Given the description of an element on the screen output the (x, y) to click on. 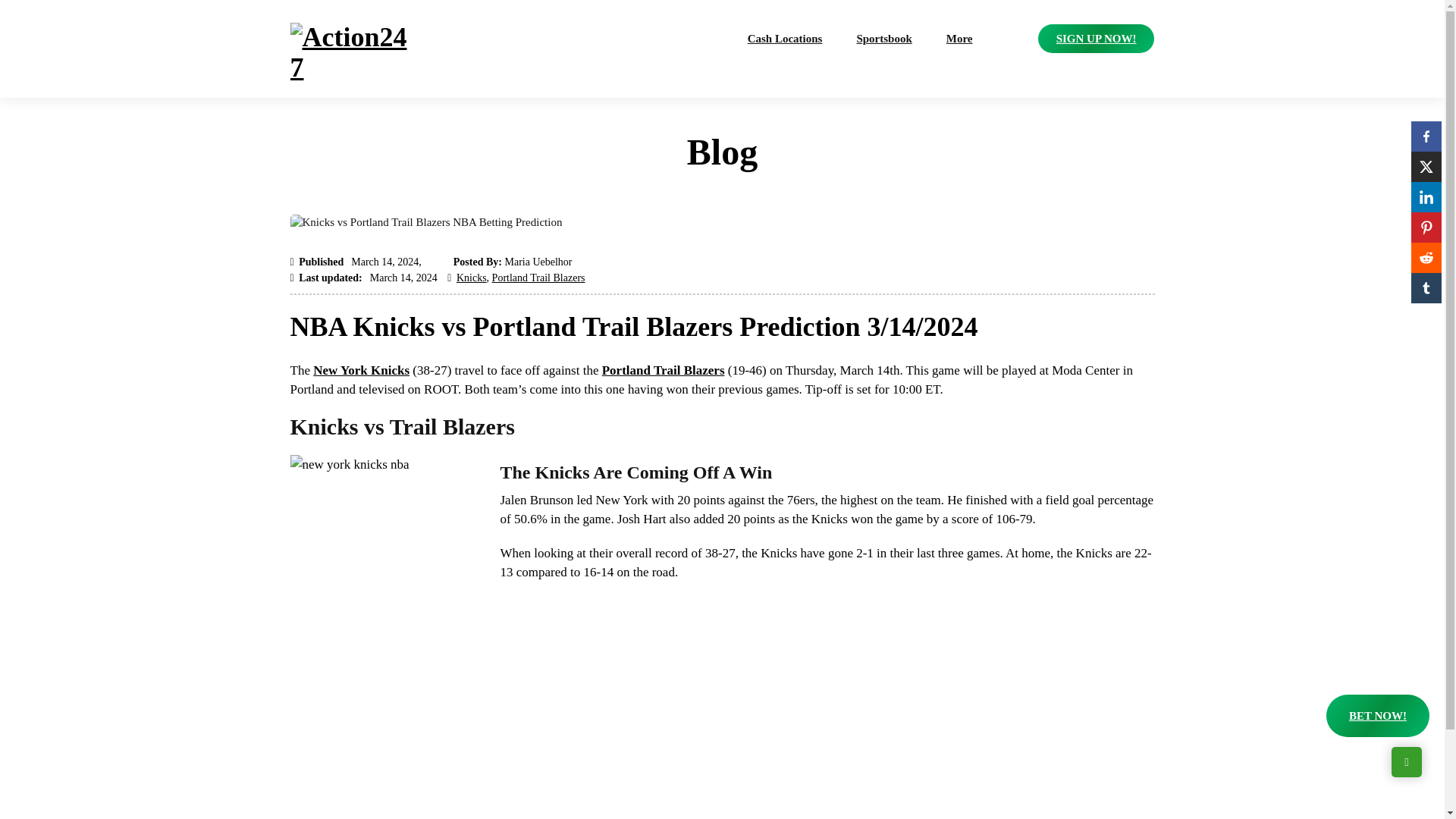
SIGN UP NOW! (1096, 38)
New York Knicks (361, 370)
Portland Trail Blazers (663, 370)
Cash Locations (785, 38)
Reddit (1425, 257)
Facebook (1425, 136)
Sportsbook (883, 38)
More (959, 38)
X (1425, 166)
Knicks (471, 277)
Portland Trail Blazers (538, 277)
Linkedin (1425, 196)
Pinterest (1425, 227)
Tumblr (1425, 287)
